Given the description of an element on the screen output the (x, y) to click on. 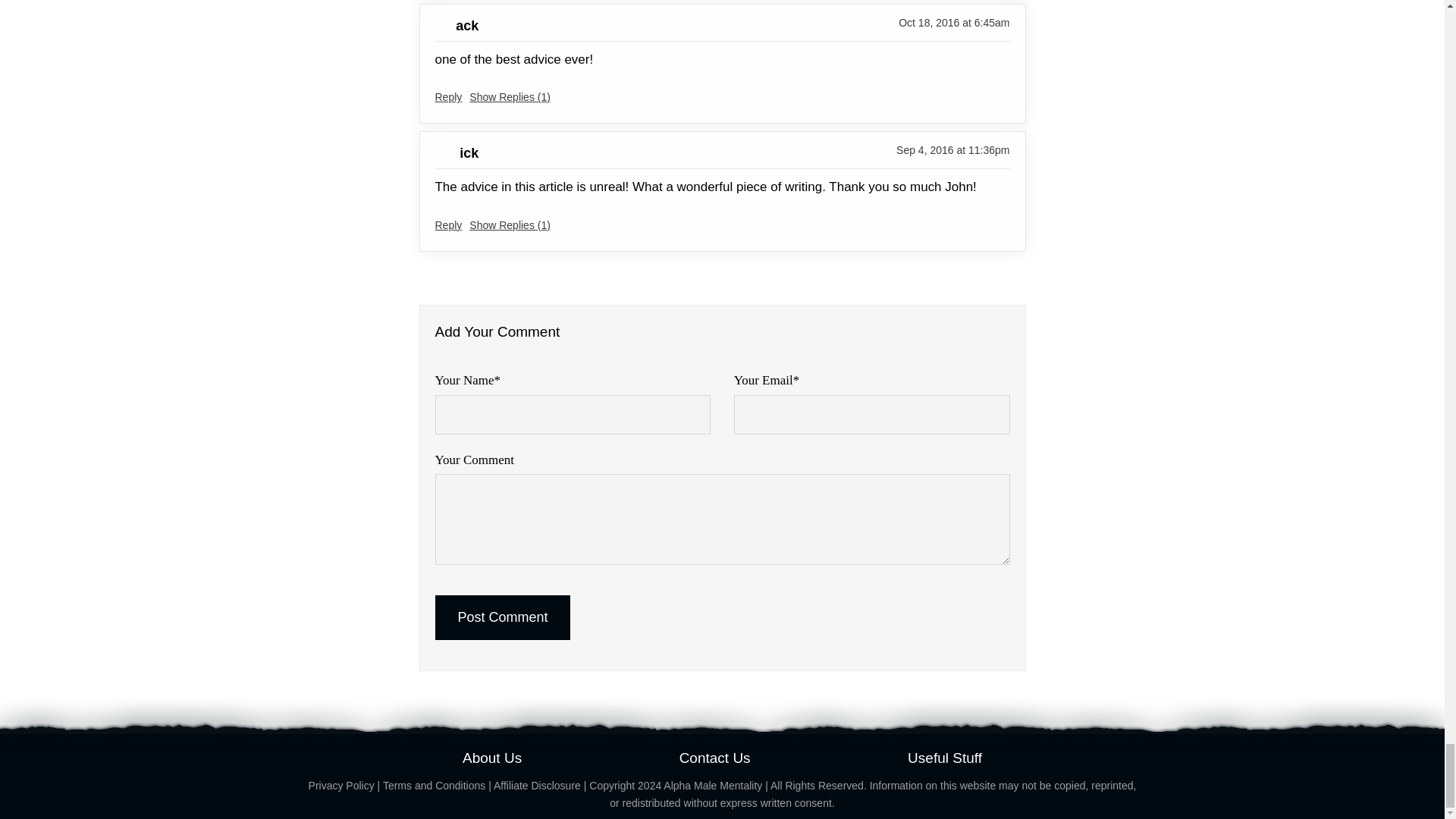
Post Comment (502, 617)
Reply (449, 96)
Oct 18, 2016 at 6:45am (953, 22)
